Given the description of an element on the screen output the (x, y) to click on. 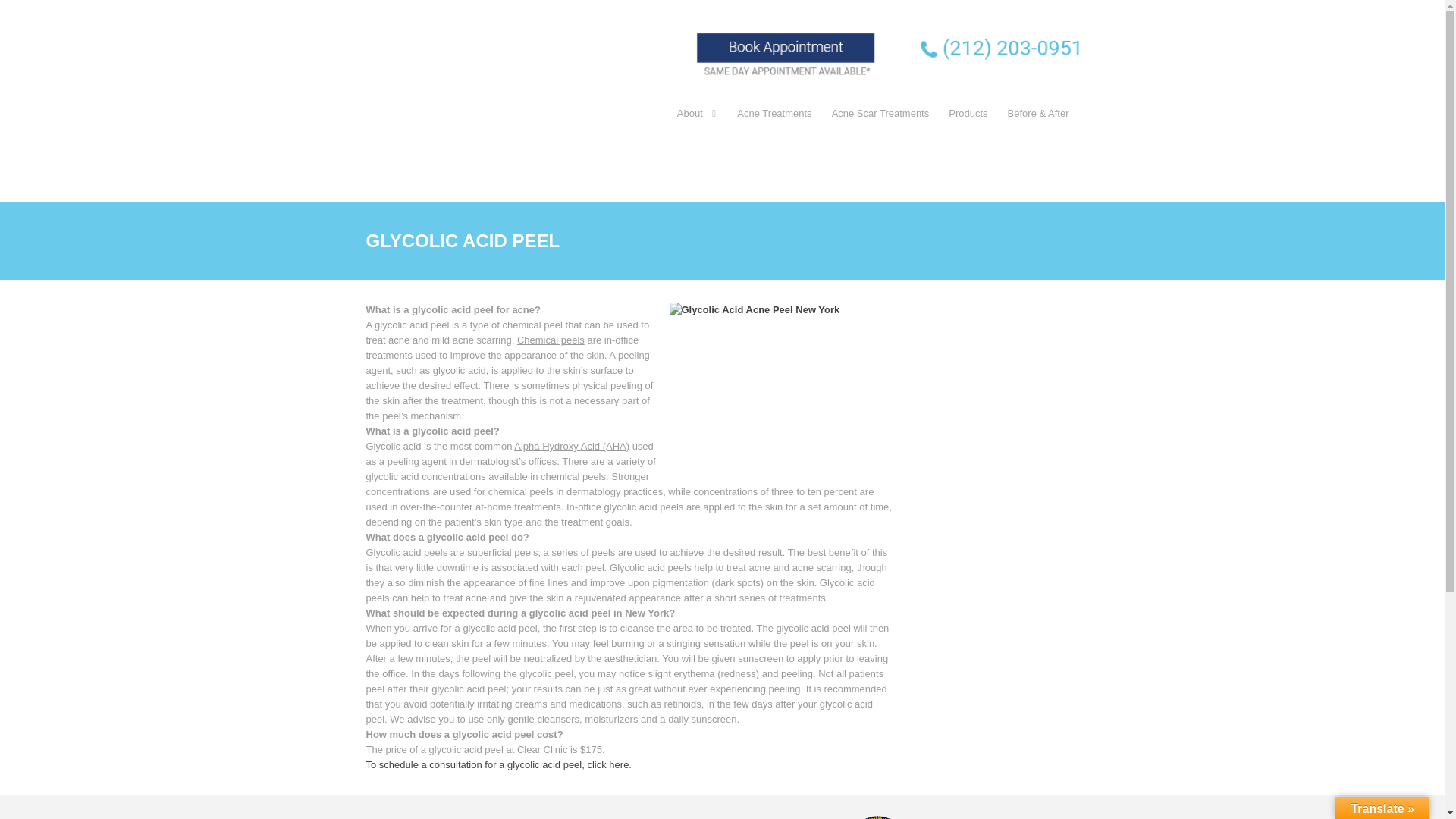
Products (968, 113)
Acne Treatments (773, 113)
Acne Scar Treatments (880, 113)
About (696, 113)
